Given the description of an element on the screen output the (x, y) to click on. 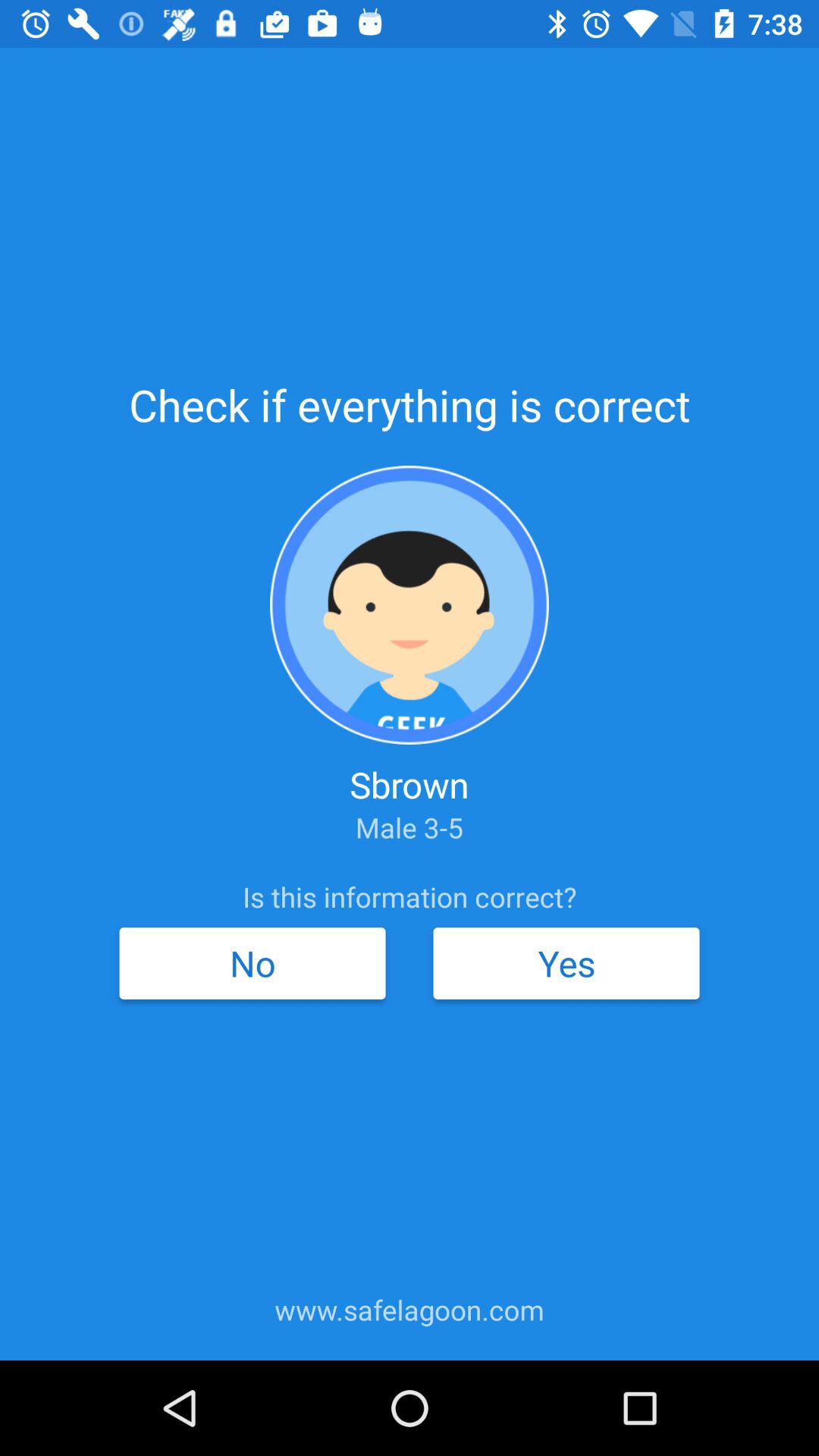
choose the item below is this information item (252, 963)
